Given the description of an element on the screen output the (x, y) to click on. 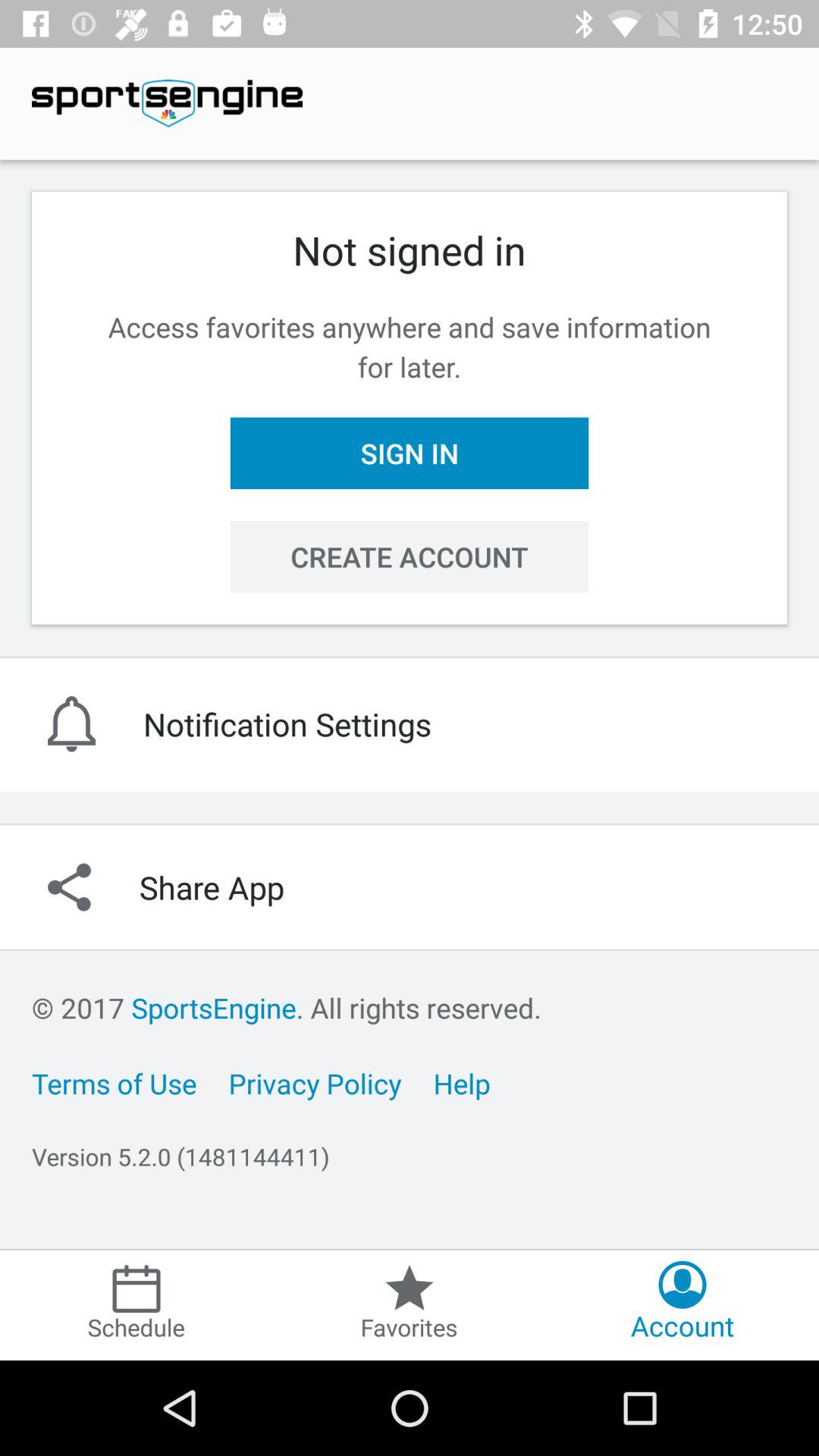
turn off the terms of use item (113, 1083)
